Given the description of an element on the screen output the (x, y) to click on. 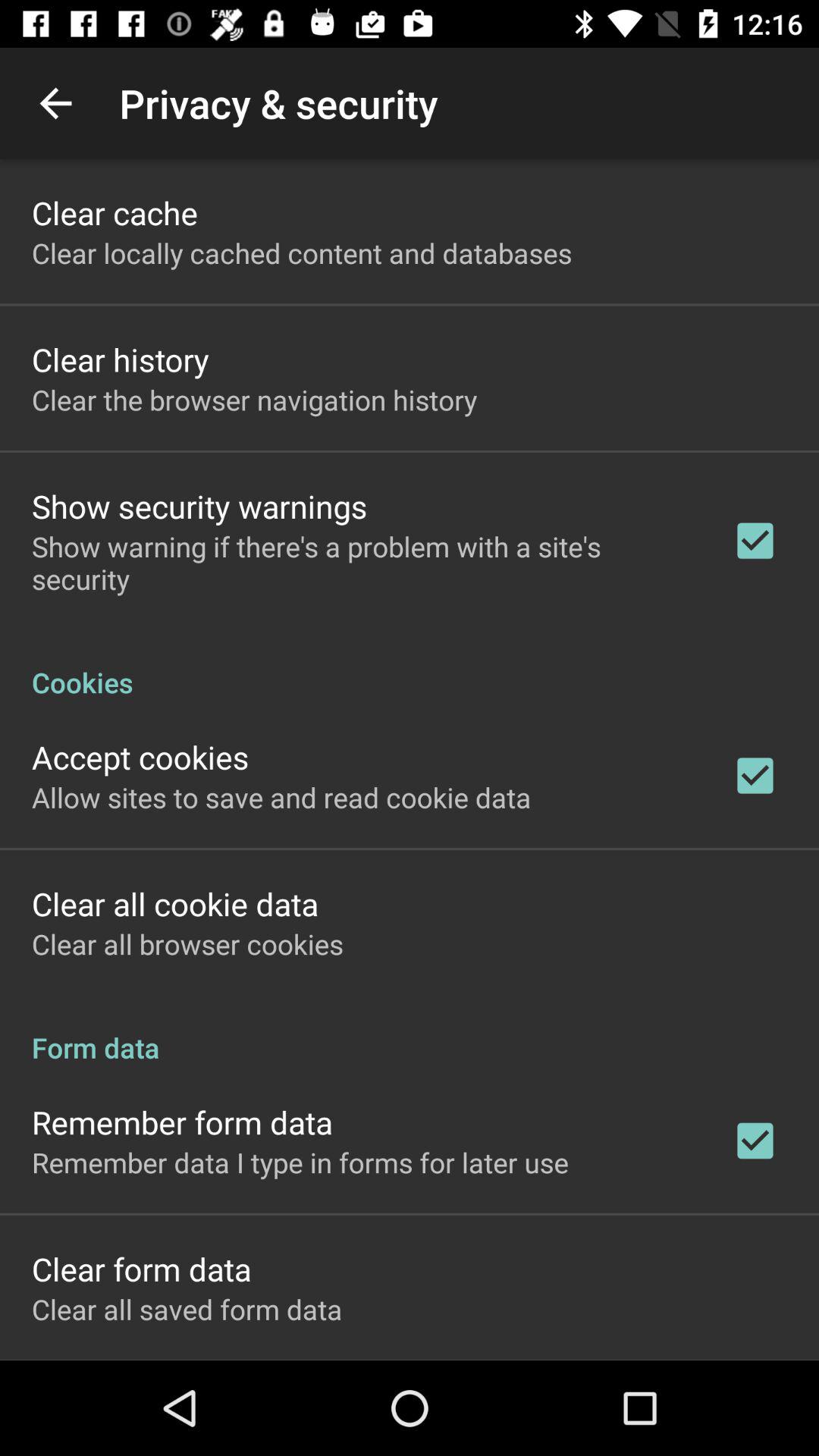
click the icon above clear history (301, 252)
